Given the description of an element on the screen output the (x, y) to click on. 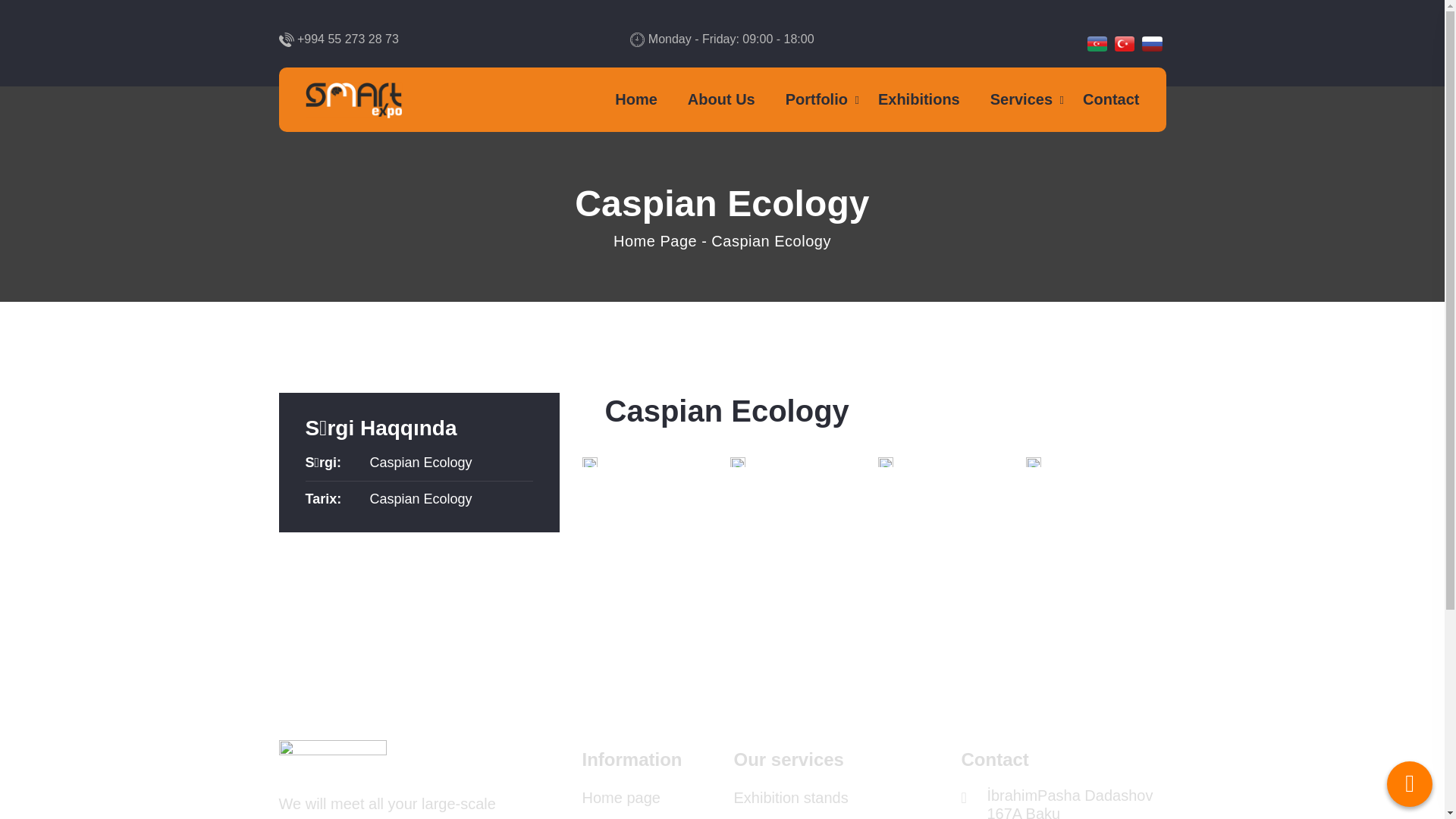
Services Element type: text (1021, 99)
Portfolio Element type: text (816, 99)
Exhibition stands Element type: text (791, 797)
Home Page Element type: text (654, 240)
About Us Element type: text (721, 99)
Home page Element type: text (621, 797)
Caspian Ecology Element type: text (421, 462)
Contact Element type: text (1110, 99)
Home Element type: text (636, 99)
Caspian Ecology Element type: text (421, 499)
Exhibitions Element type: text (919, 99)
